Given the description of an element on the screen output the (x, y) to click on. 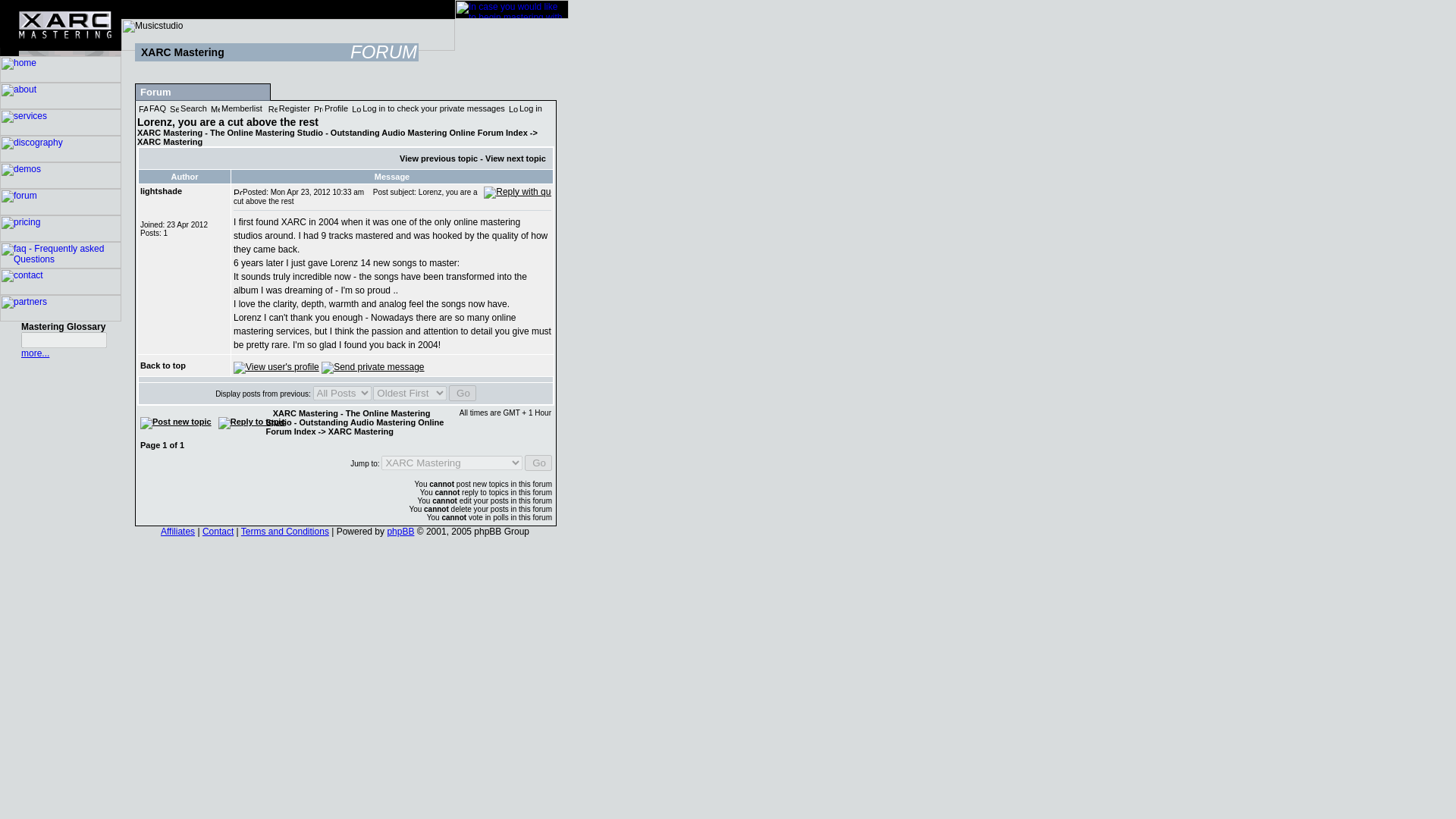
Go (537, 462)
Send private message (372, 367)
Profile (330, 108)
Log in (524, 108)
Go (462, 392)
Go (537, 462)
Affiliates (177, 531)
XARC Mastering (361, 430)
Memberlist (236, 108)
Back to top (162, 365)
more... (35, 353)
Register (288, 108)
about (60, 105)
View next topic (515, 157)
